Given the description of an element on the screen output the (x, y) to click on. 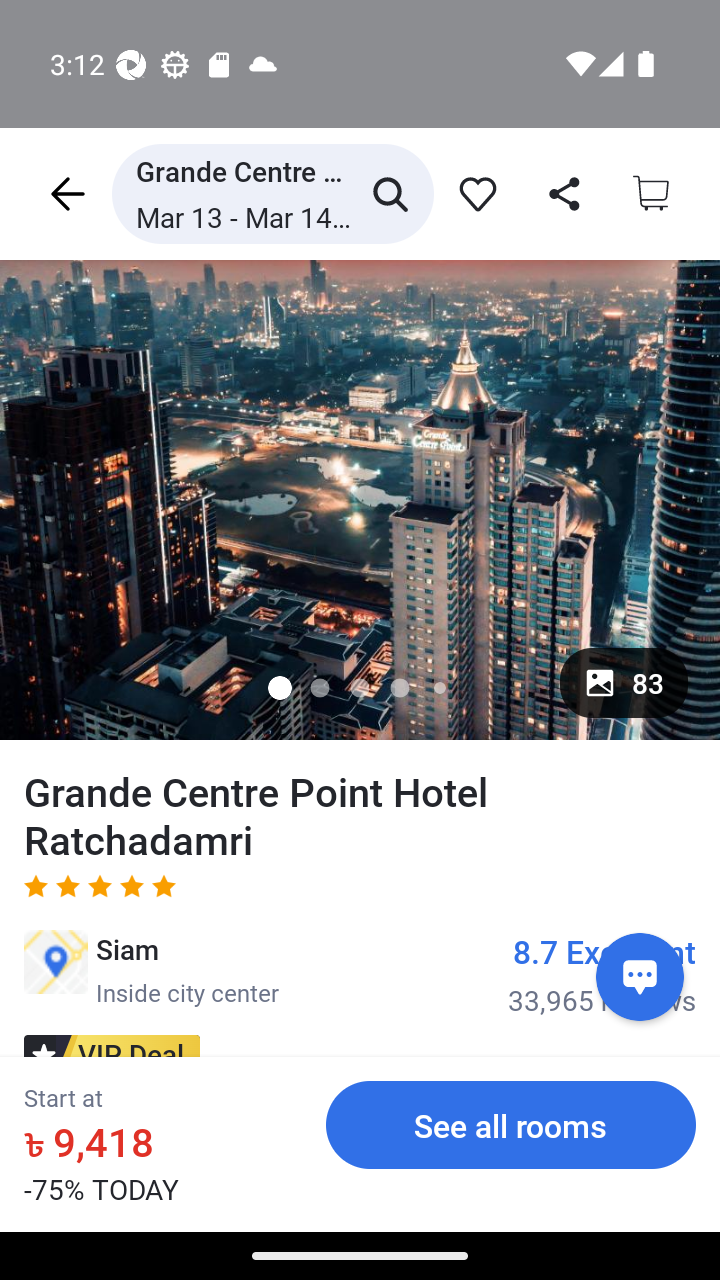
header icon (66, 193)
favorite_icon 51e95598 (473, 193)
share_header_icon (560, 193)
Cart icon (652, 193)
image (360, 499)
83 (624, 682)
Siam Inside city center (151, 969)
8.7 Excellent 33,965 reviews (602, 974)
See all rooms (511, 1124)
